Given the description of an element on the screen output the (x, y) to click on. 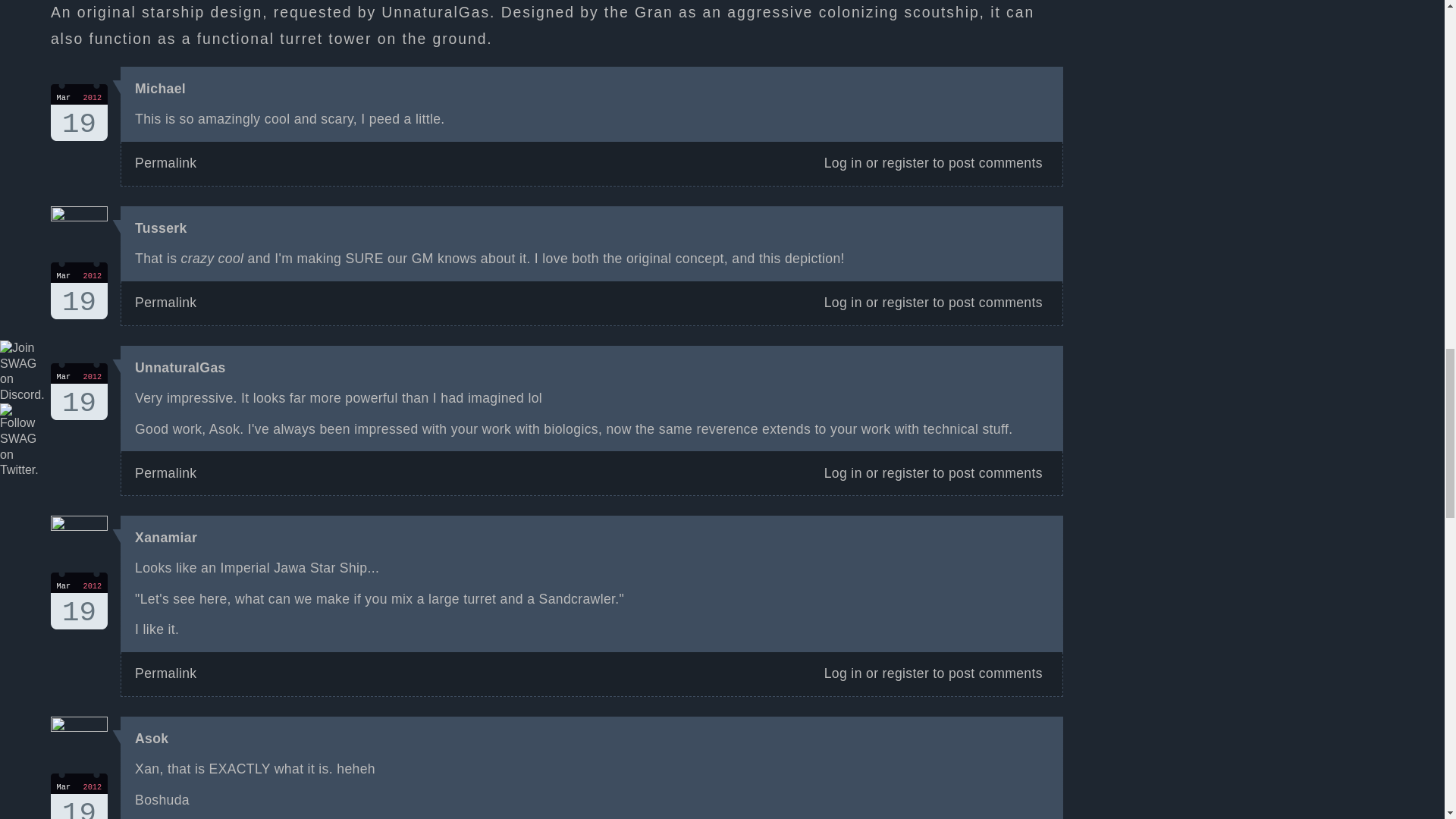
View user profile. (78, 112)
register (160, 88)
Tusserk (905, 302)
Permalink (161, 227)
View user profile. (78, 391)
Log in (165, 302)
Permalink (151, 738)
Permalink (842, 473)
register (165, 473)
Log in (165, 162)
UnnaturalGas (905, 473)
Michael (842, 672)
